Given the description of an element on the screen output the (x, y) to click on. 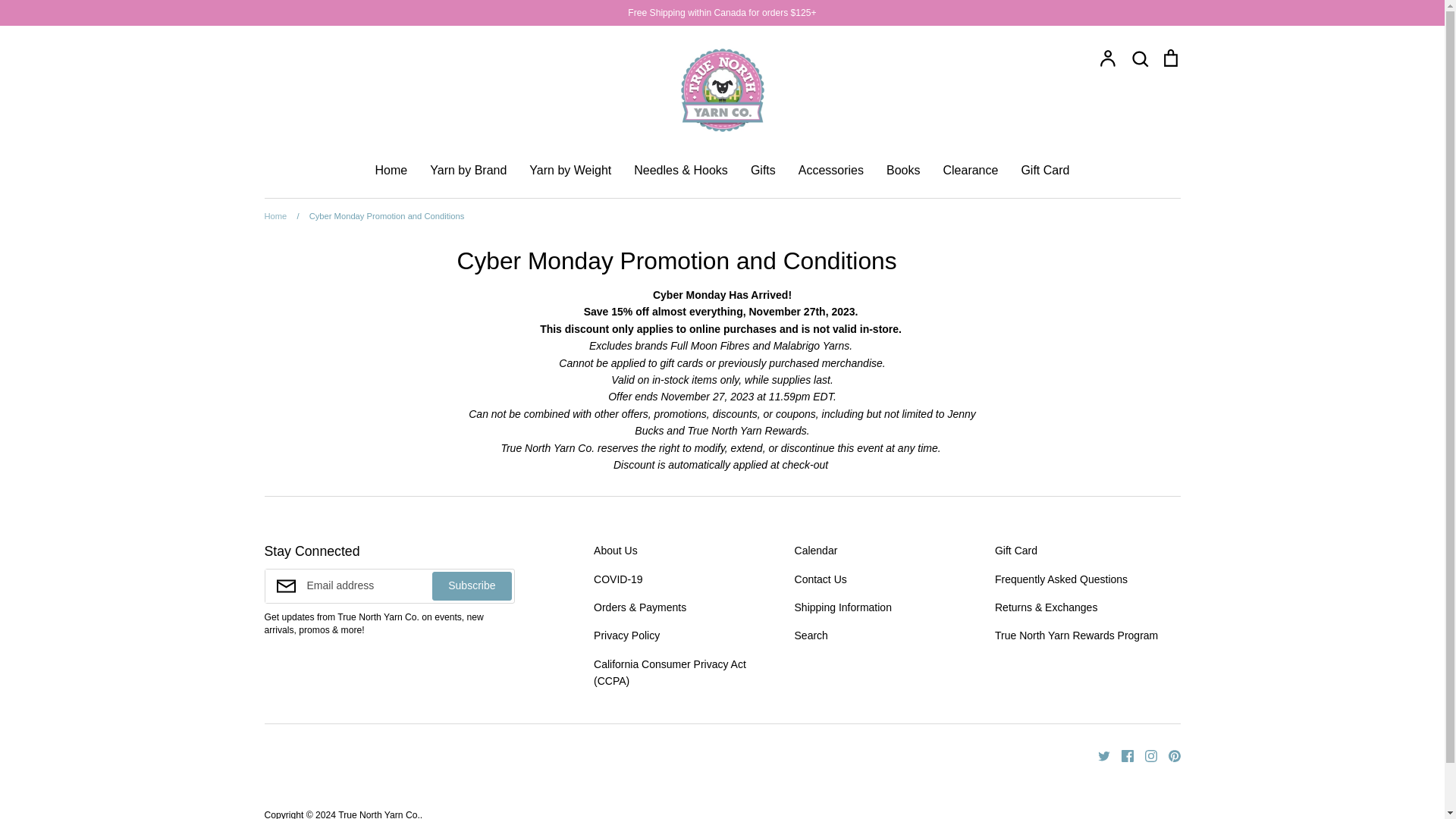
Yarn by Brand (467, 169)
Account (1107, 57)
Gifts (763, 169)
Cart (1169, 57)
Clearance (969, 169)
Search (1139, 57)
Home (274, 215)
Books (903, 169)
Frequently Asked Questions (1060, 579)
Accessories (830, 169)
